Given the description of an element on the screen output the (x, y) to click on. 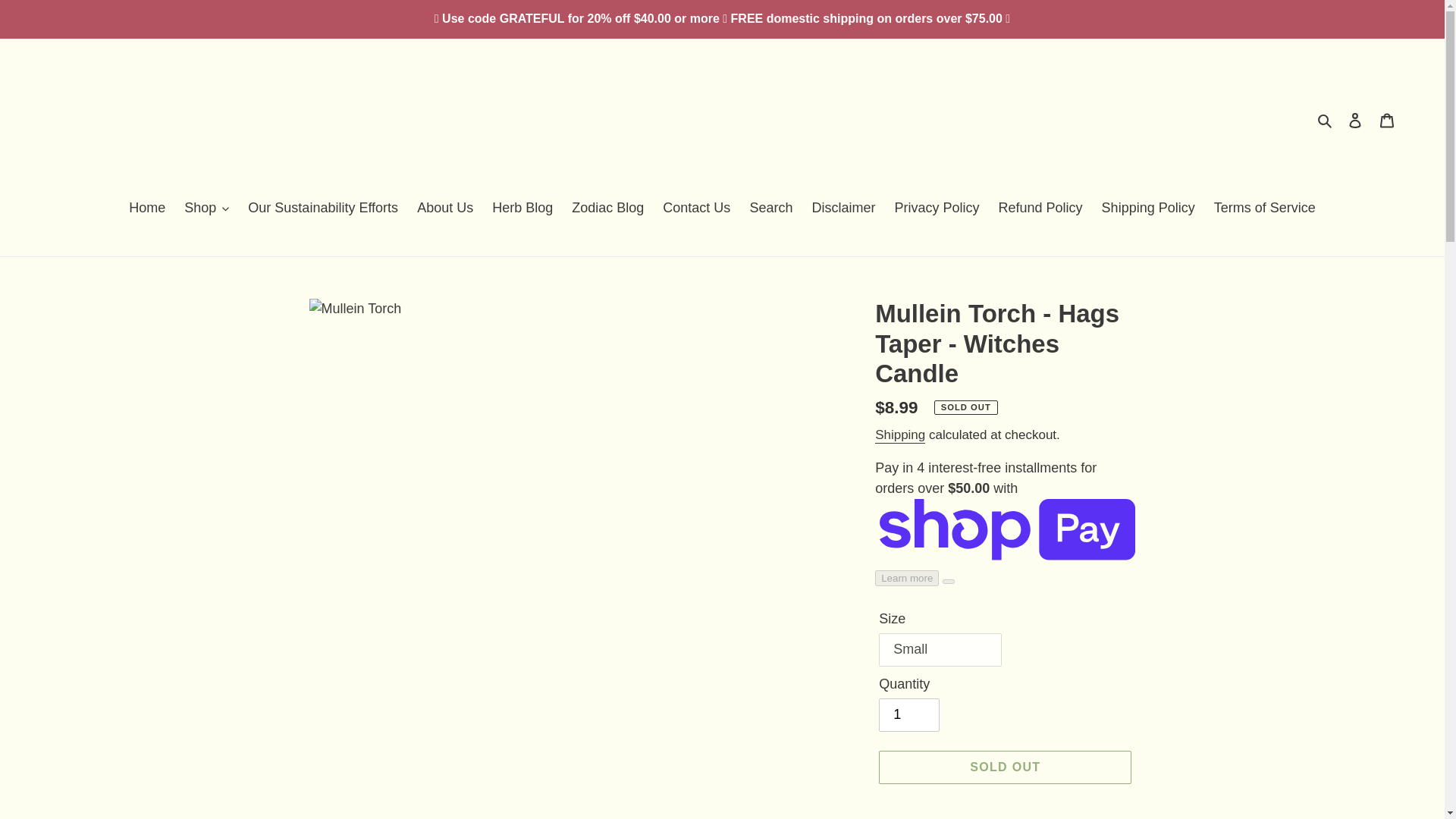
1 (909, 715)
Search (1326, 119)
Log in (1355, 120)
Cart (1387, 120)
